Given the description of an element on the screen output the (x, y) to click on. 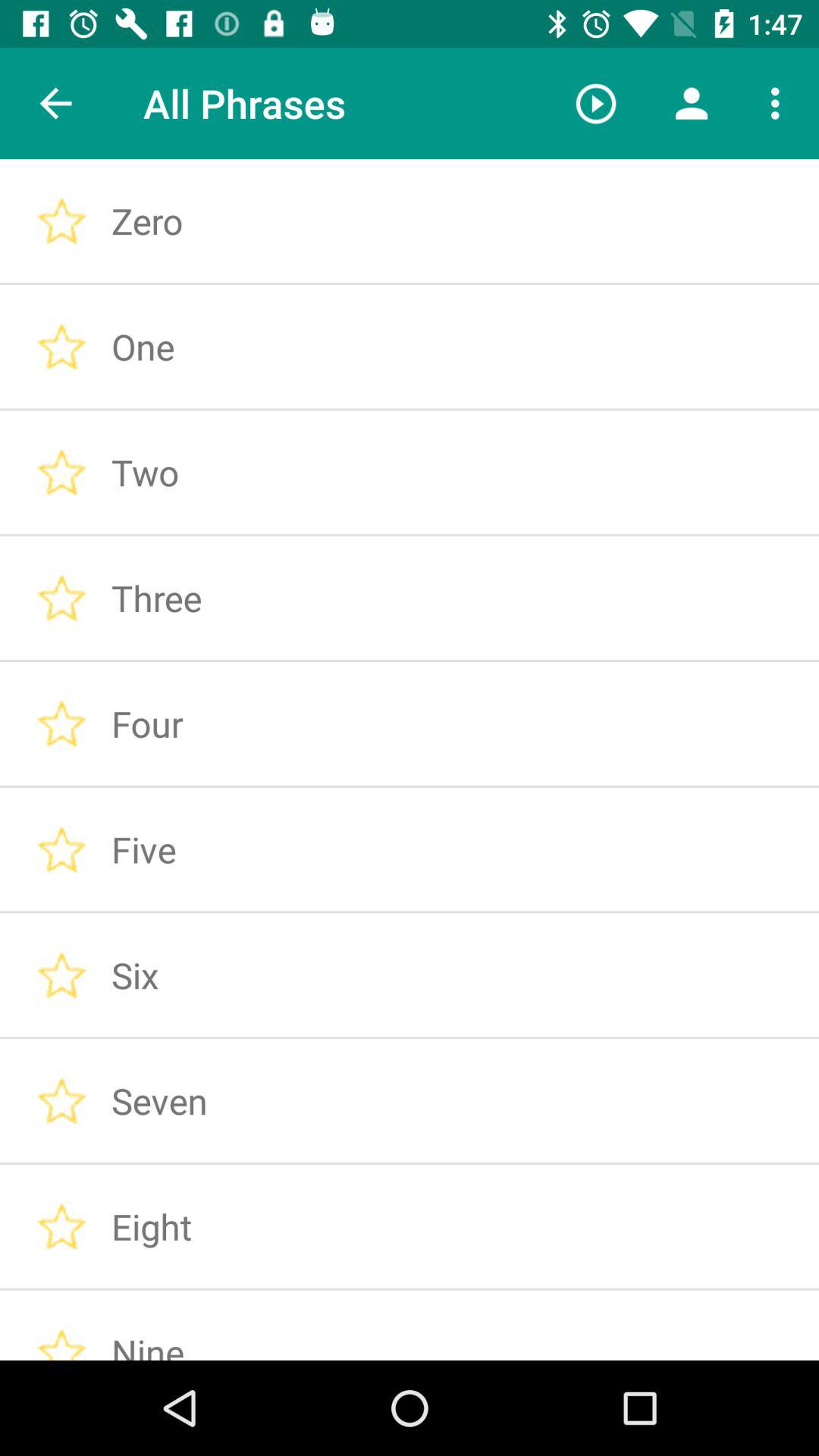
tap icon next to the all phrases (55, 103)
